Given the description of an element on the screen output the (x, y) to click on. 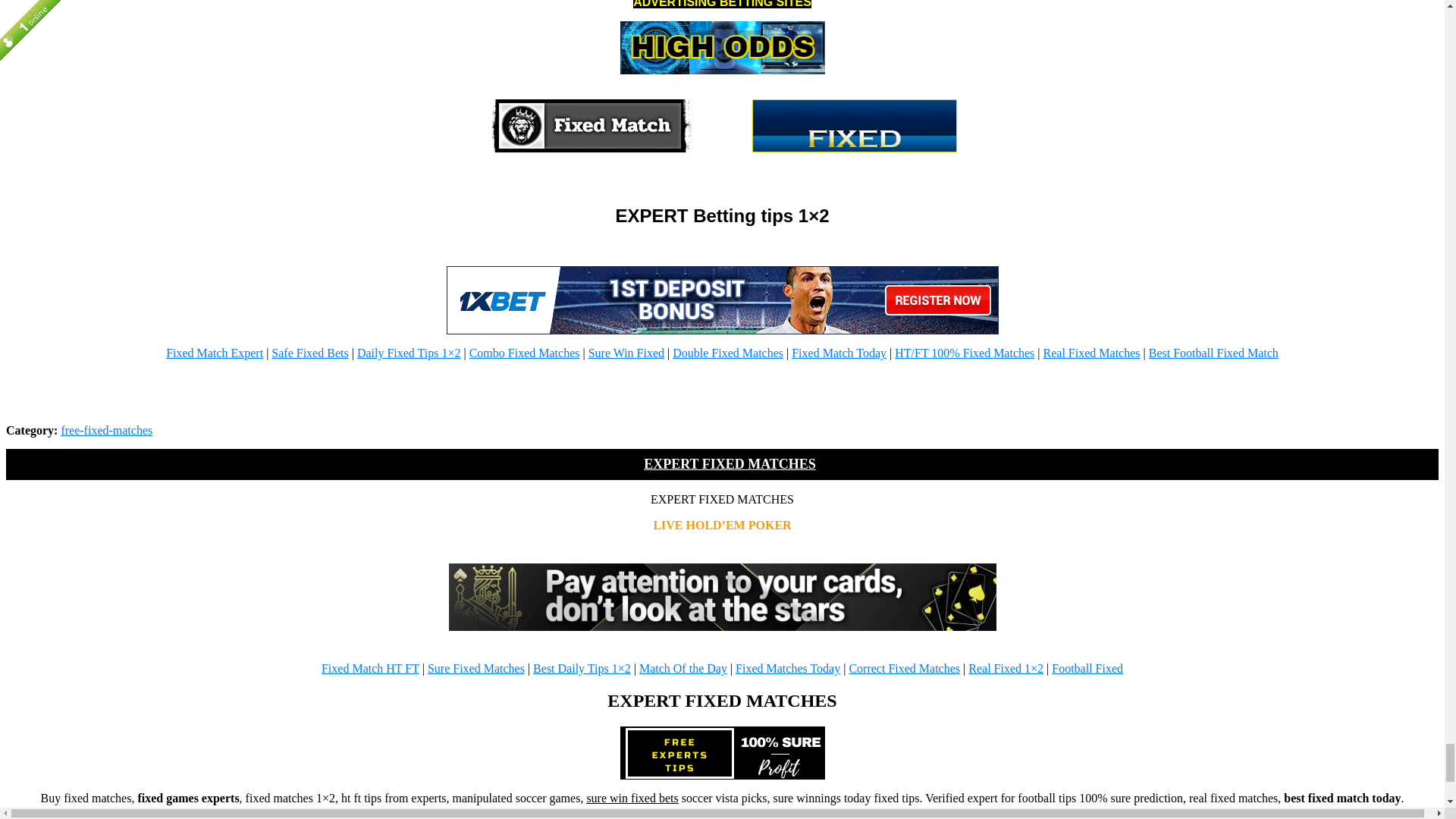
EXPERT FIXED MATCHES (722, 752)
